Given the description of an element on the screen output the (x, y) to click on. 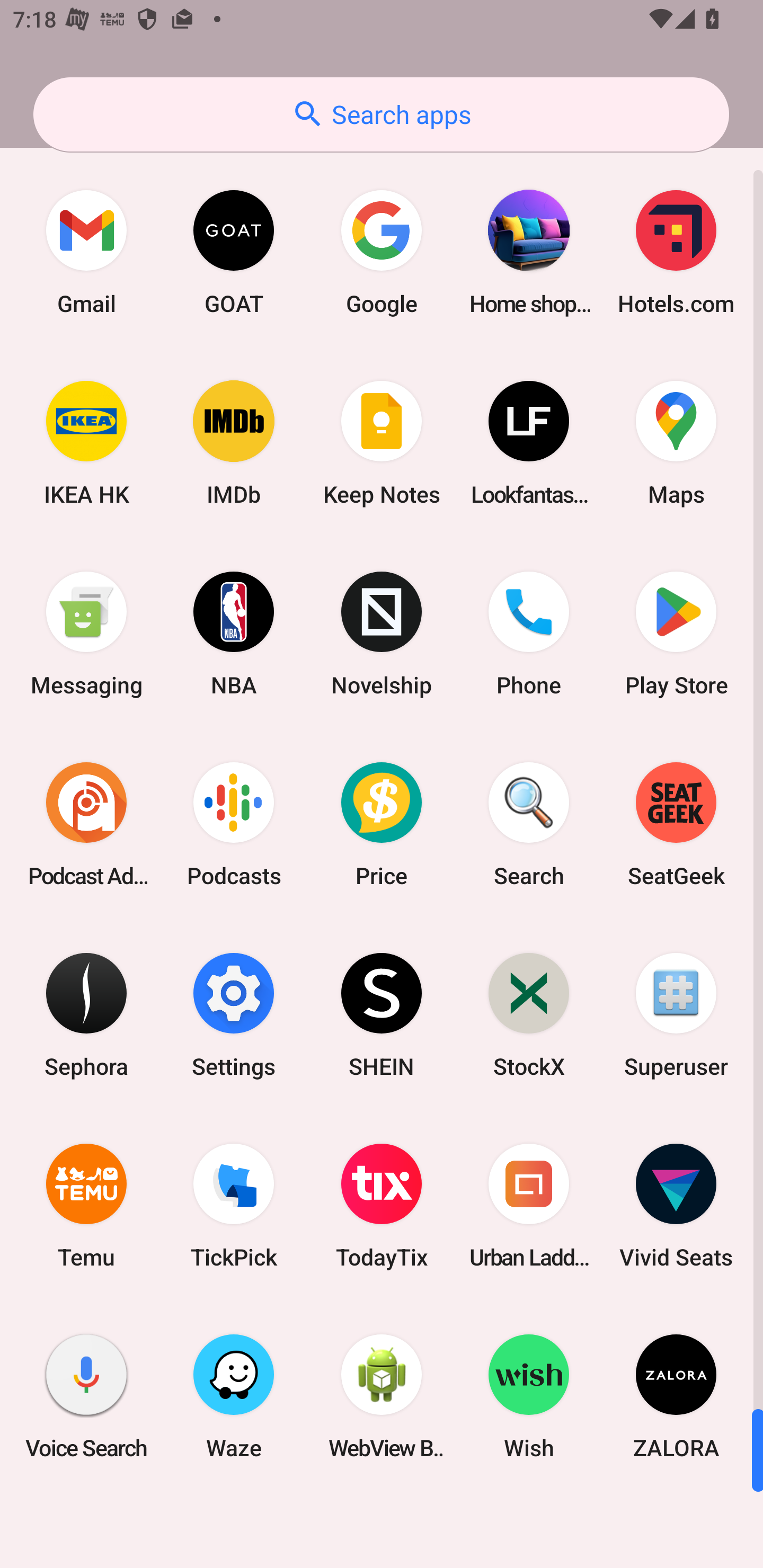
  Search apps (381, 114)
Gmail (86, 252)
GOAT (233, 252)
Google (381, 252)
Home shopping (528, 252)
Hotels.com (676, 252)
IKEA HK (86, 442)
IMDb (233, 442)
Keep Notes (381, 442)
Lookfantastic (528, 442)
Maps (676, 442)
Messaging (86, 633)
NBA (233, 633)
Novelship (381, 633)
Phone (528, 633)
Play Store (676, 633)
Podcast Addict (86, 823)
Podcasts (233, 823)
Price (381, 823)
Search (528, 823)
SeatGeek (676, 823)
Sephora (86, 1014)
Settings (233, 1014)
SHEIN (381, 1014)
StockX (528, 1014)
Superuser (676, 1014)
Temu (86, 1205)
TickPick (233, 1205)
TodayTix (381, 1205)
Urban Ladder (528, 1205)
Vivid Seats (676, 1205)
Voice Search (86, 1396)
Waze (233, 1396)
WebView Browser Tester (381, 1396)
Wish (528, 1396)
ZALORA (676, 1396)
